Given the description of an element on the screen output the (x, y) to click on. 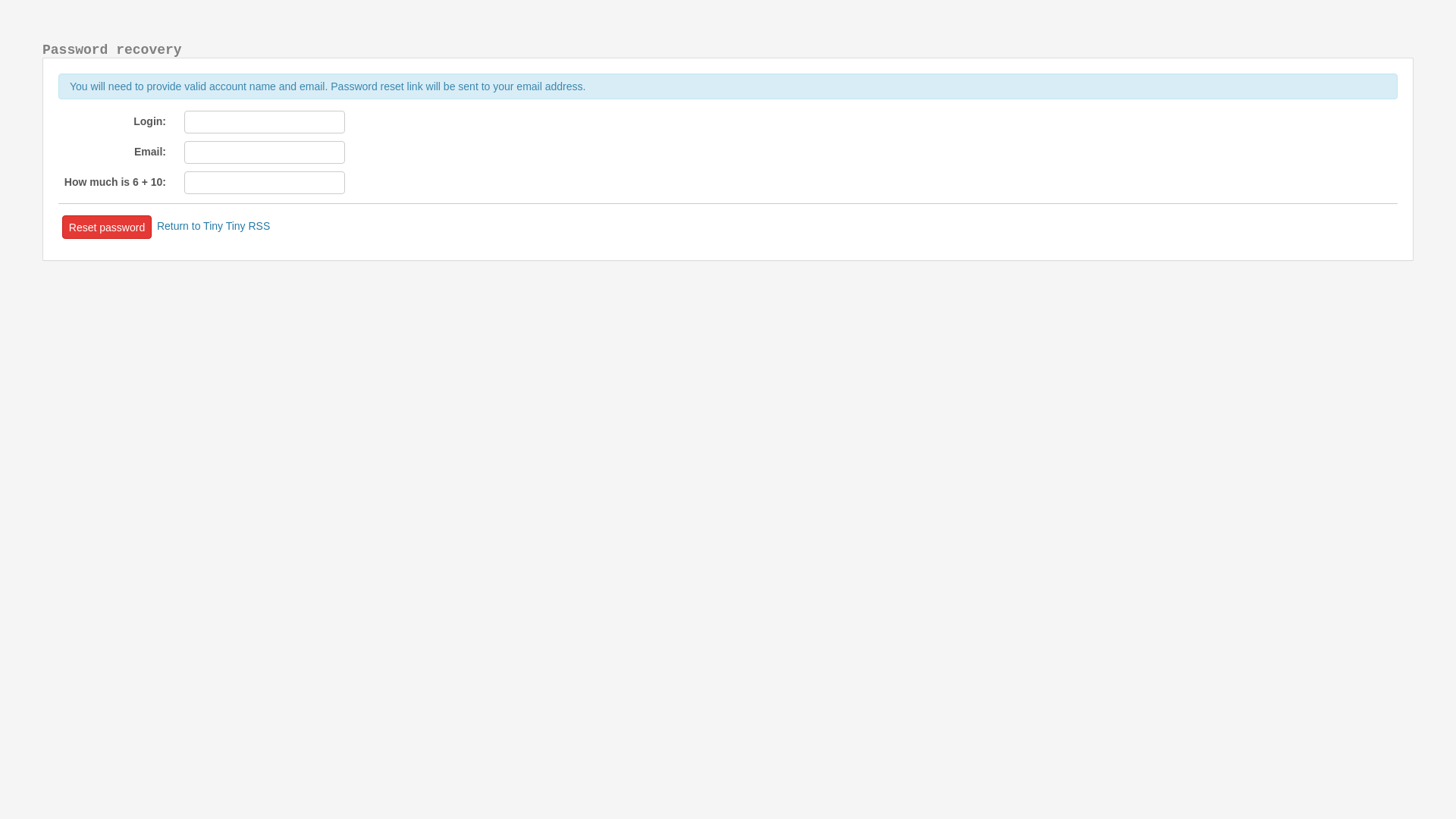
Return to Tiny Tiny RSS Element type: text (212, 225)
